Given the description of an element on the screen output the (x, y) to click on. 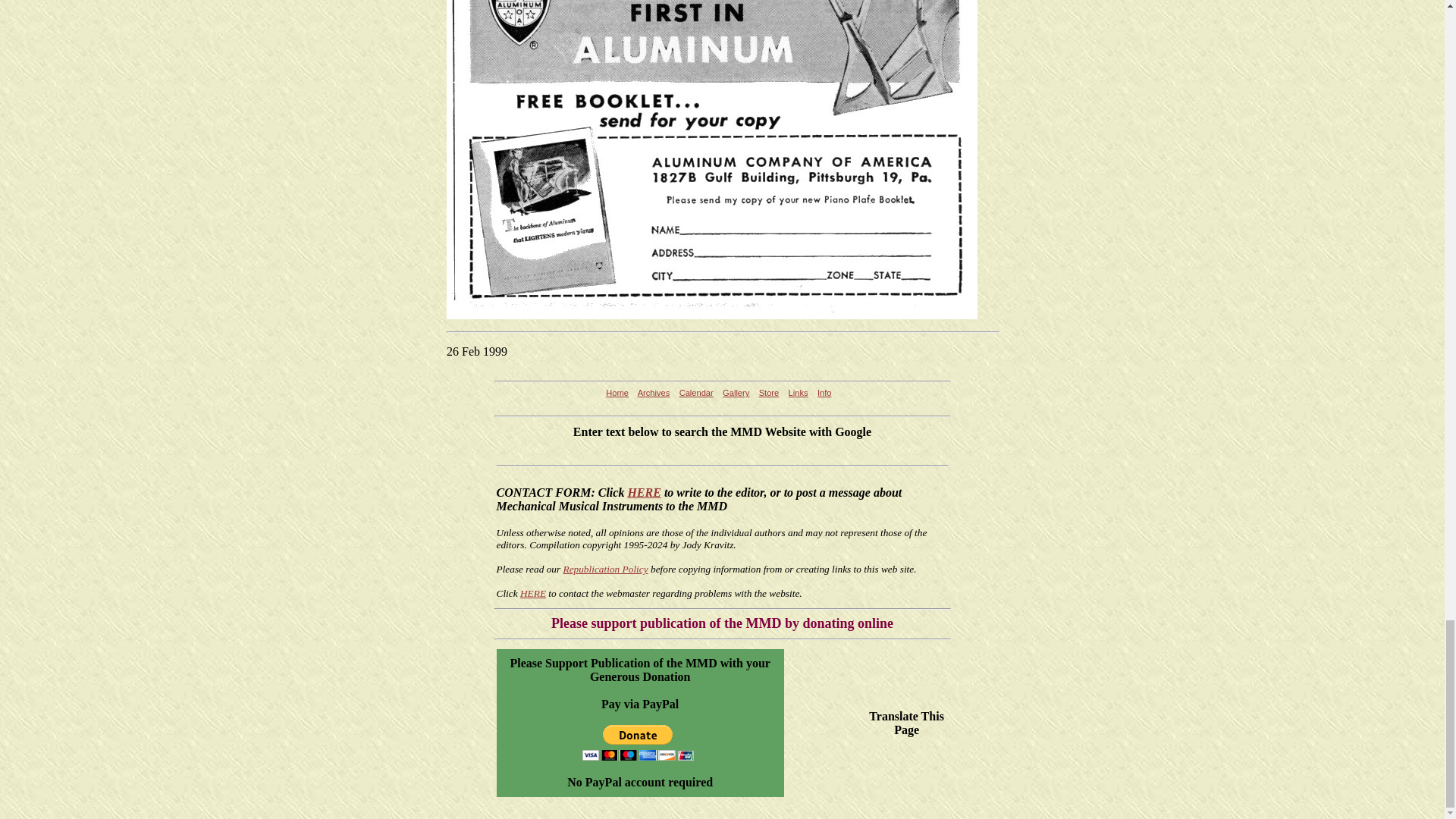
HERE (532, 593)
PayPal - The safer, easier way to pay online! (638, 742)
Info (823, 392)
Home (616, 392)
Archives (653, 392)
Links (798, 392)
Store (768, 392)
Gallery (735, 392)
Calendar (696, 392)
Republication Policy (604, 568)
